Given the description of an element on the screen output the (x, y) to click on. 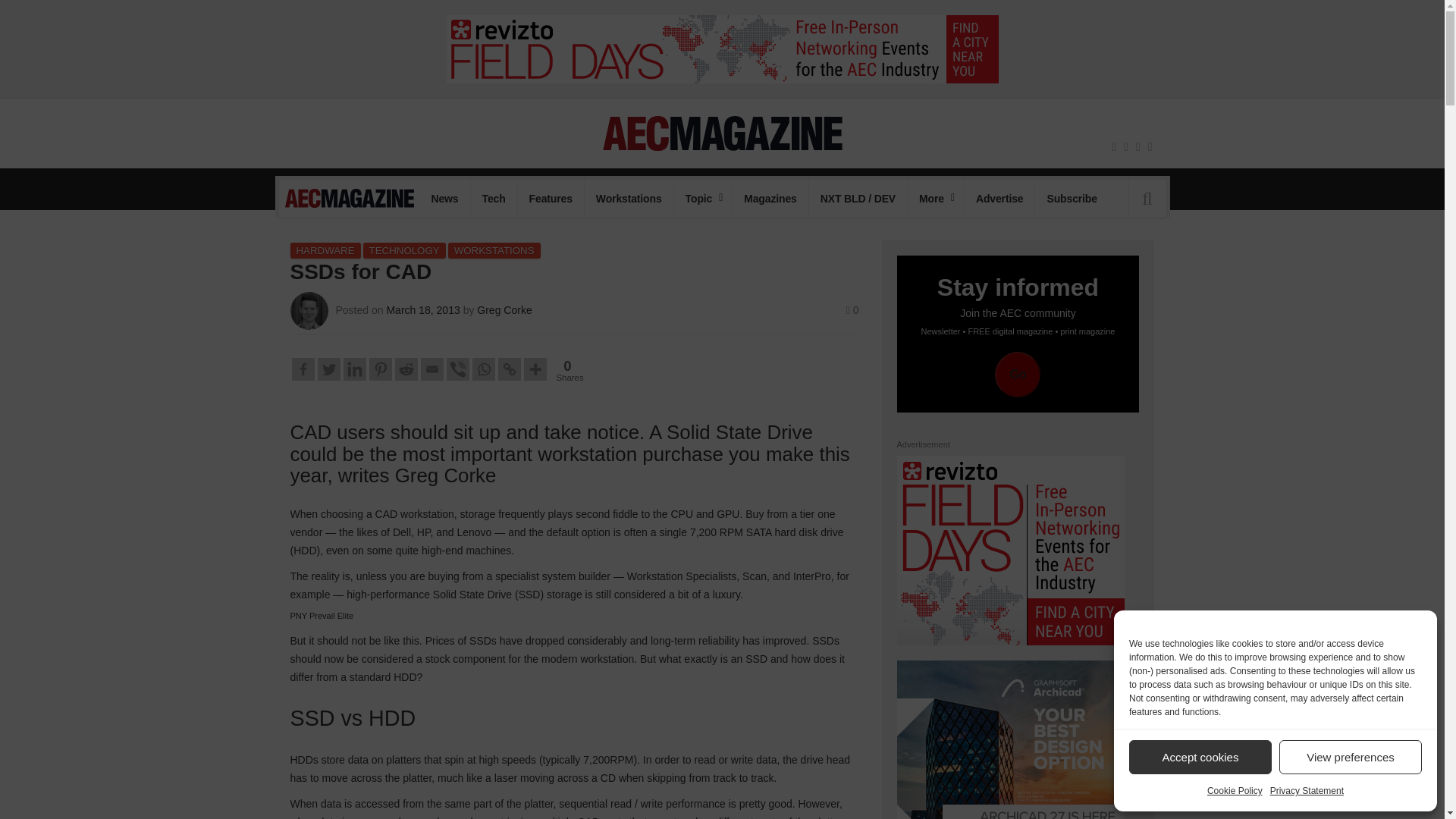
View preferences (1350, 756)
Whatsapp (483, 368)
Facebook (302, 368)
Topic (703, 198)
Twitter (328, 368)
Privacy Statement (1306, 791)
Accept cookies (1200, 756)
Copy Link (508, 368)
Linkedin (353, 368)
Email (431, 368)
Workstations (628, 198)
Tech (493, 198)
Cookie Policy (1234, 791)
Features (550, 198)
Viber (456, 368)
